Given the description of an element on the screen output the (x, y) to click on. 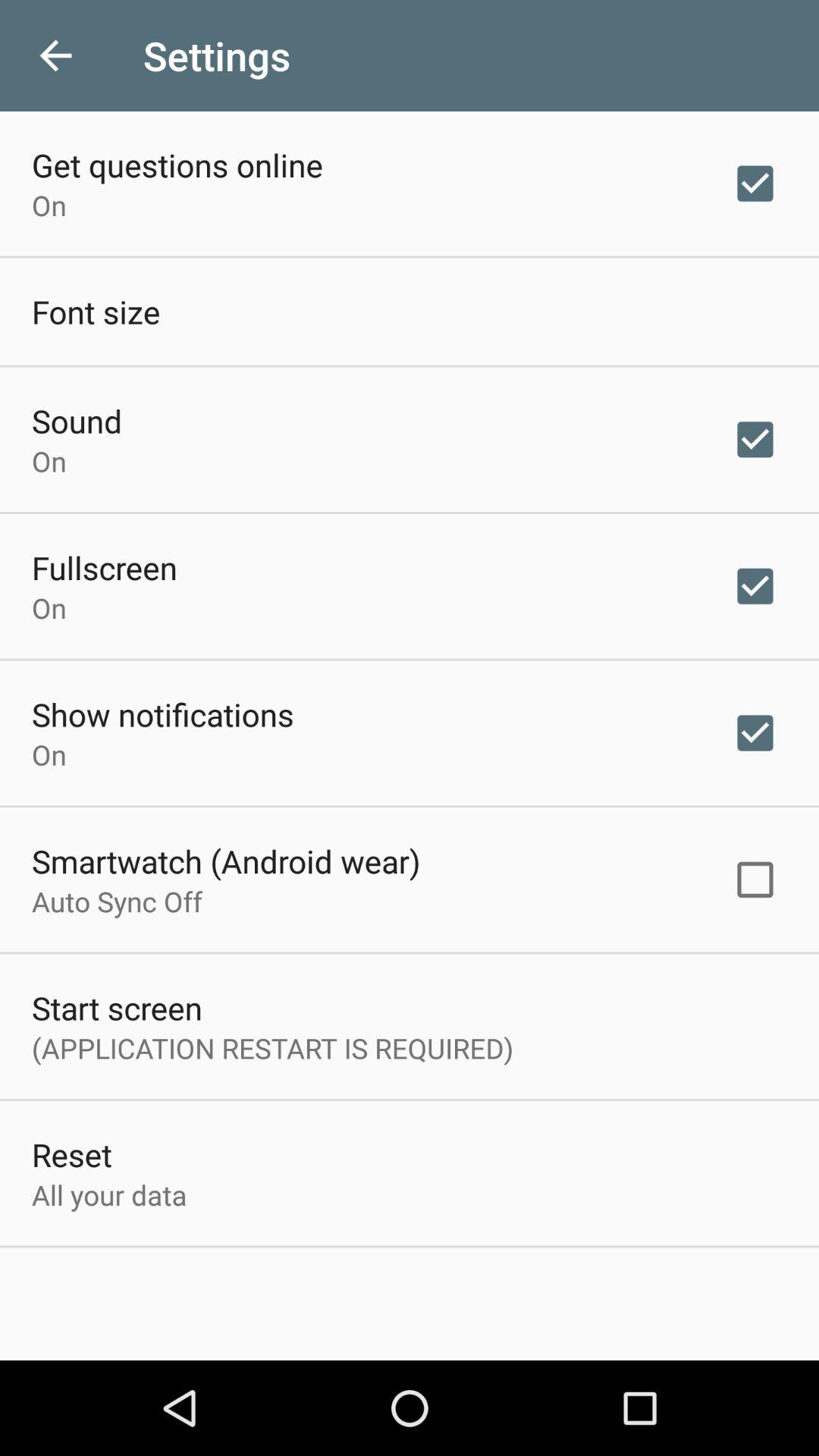
launch icon below the application restart is item (71, 1154)
